Given the description of an element on the screen output the (x, y) to click on. 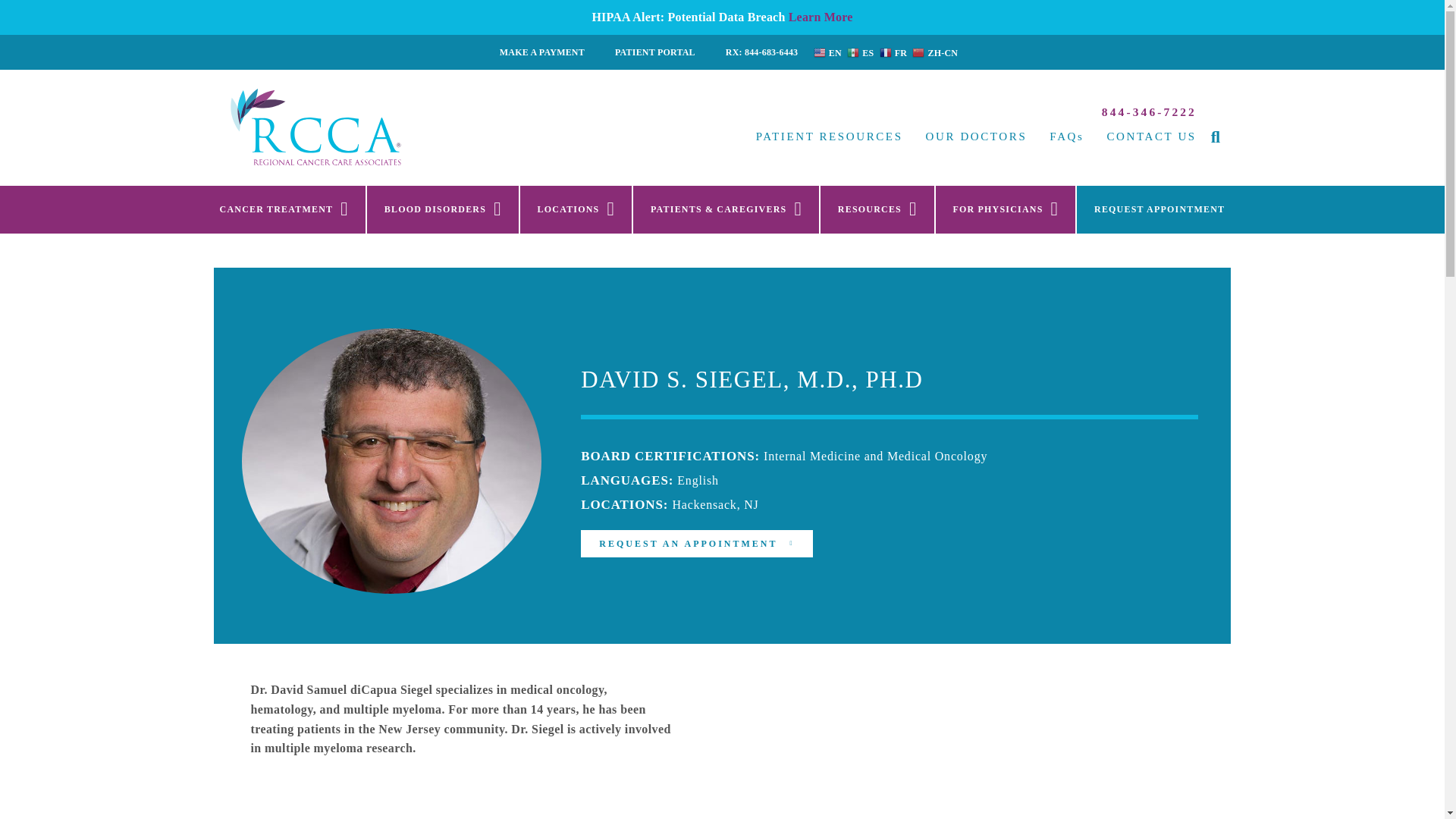
EN (828, 51)
PATIENT RESOURCES (828, 136)
CONTACT US (1150, 136)
MAKE A PAYMENT (541, 52)
ES (861, 51)
FAQs (1066, 136)
OUR DOCTORS (976, 136)
844-346-7222 (1149, 111)
PATIENT PORTAL (654, 52)
FR (894, 51)
Spanish (861, 51)
ZH-CN (935, 51)
RX: 844-683-6443 (761, 52)
English (828, 51)
French (894, 51)
